Given the description of an element on the screen output the (x, y) to click on. 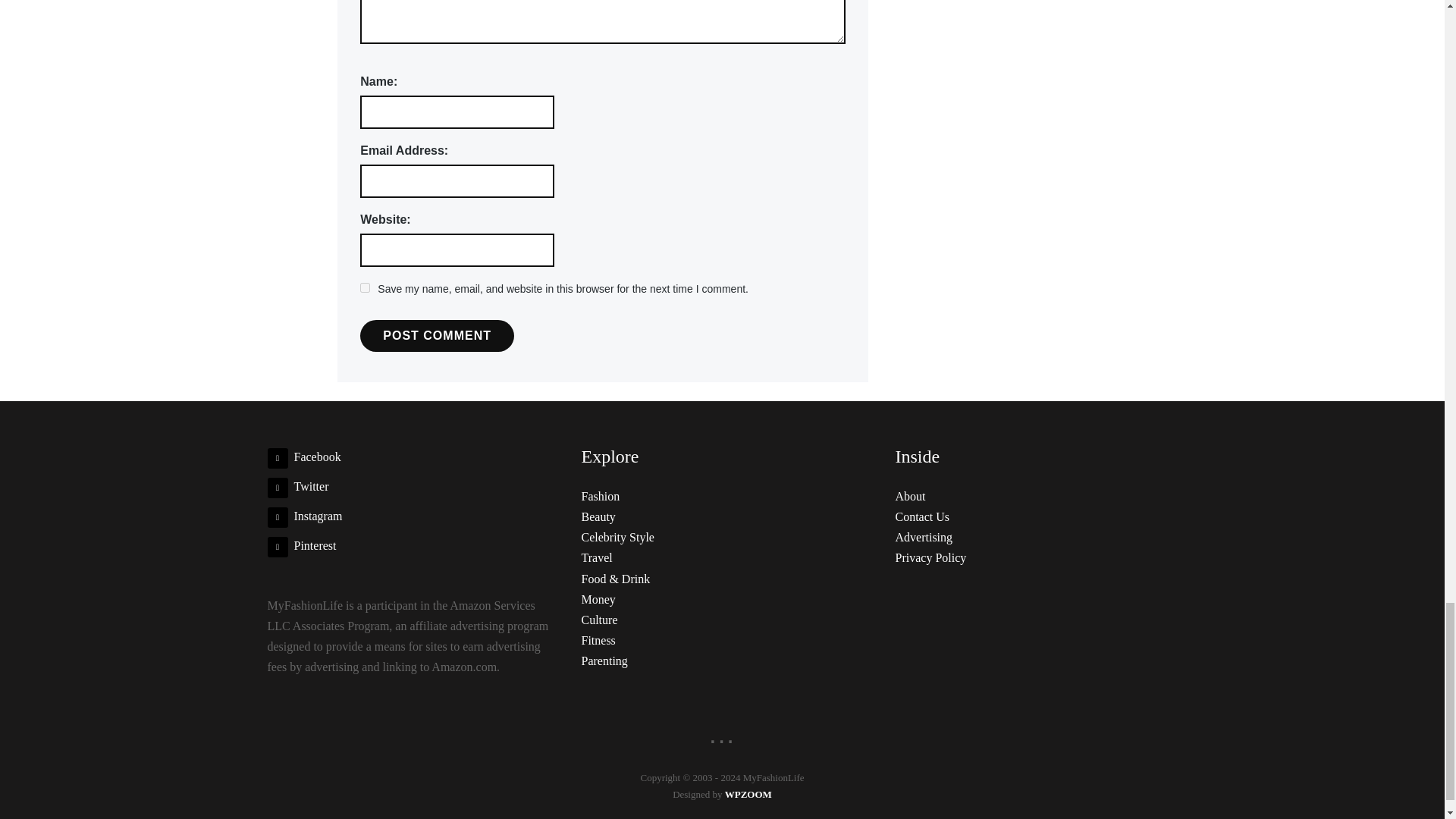
Post Comment (436, 336)
Twitter (297, 486)
yes (364, 287)
Facebook (303, 456)
Pinterest (301, 545)
Instagram (304, 515)
